Given the description of an element on the screen output the (x, y) to click on. 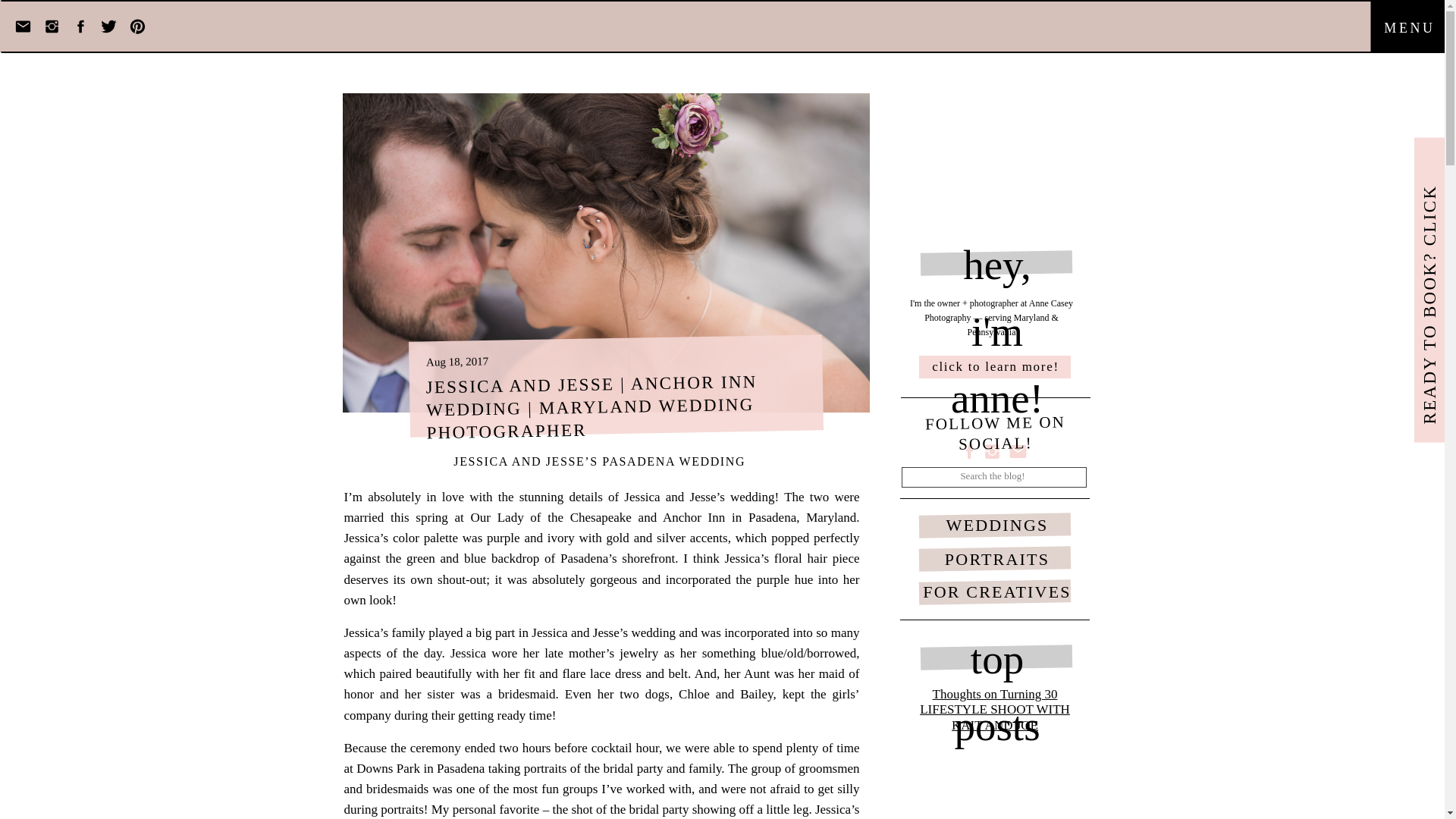
contact (1126, 761)
hey, i'm anne! (997, 262)
the ac workshop (1044, 761)
top posts (997, 657)
portraits (931, 761)
weddings (886, 761)
for creatives (979, 761)
LIFESTYLE SHOOT WITH KAIT AND JOE (995, 716)
Thoughts on Turning 30 (995, 694)
meet anne (838, 761)
blog (1093, 761)
